Given the description of an element on the screen output the (x, y) to click on. 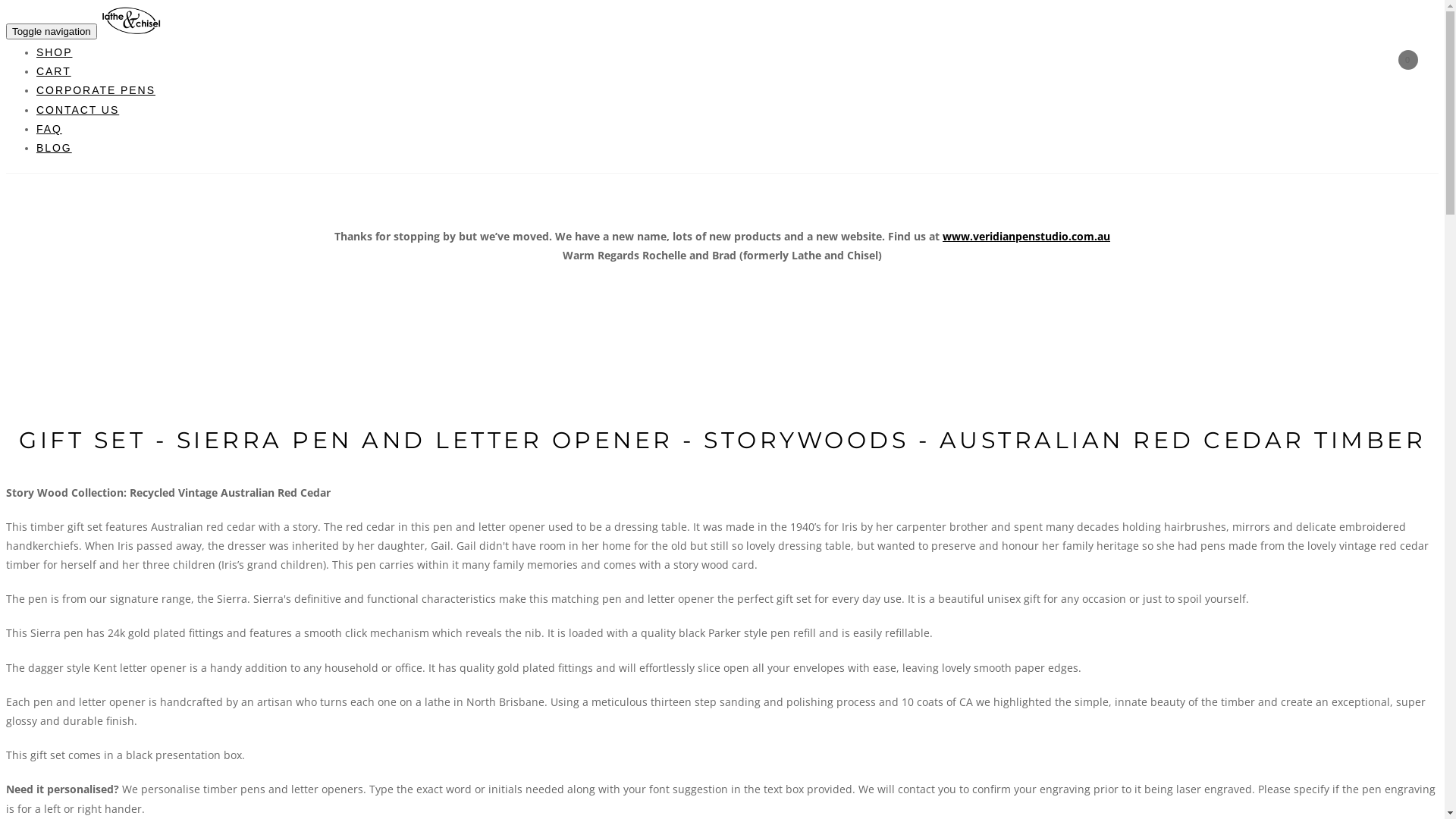
Toggle navigation Element type: text (51, 31)
CART Element type: text (53, 71)
SHOP Element type: text (54, 52)
www.veridianpenstudio.com.au Element type: text (1026, 236)
CONTACT US Element type: text (77, 109)
BLOG Element type: text (54, 147)
FAQ Element type: text (49, 128)
CORPORATE PENS Element type: text (95, 90)
